Given the description of an element on the screen output the (x, y) to click on. 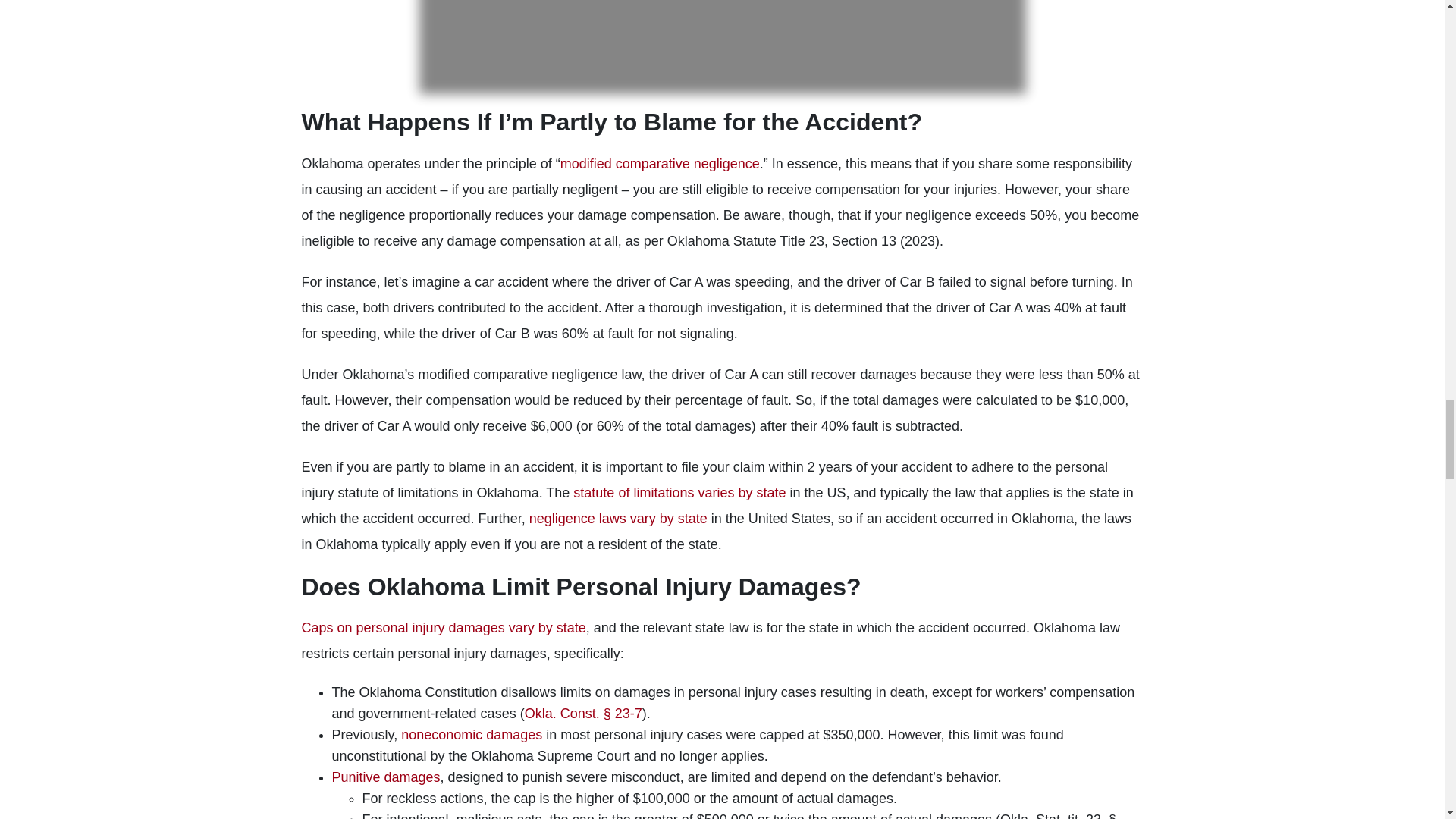
modified comparative negligence (660, 163)
Caps on personal injury damages vary by state (443, 627)
Personal Injury Statute of Limitations in Oklahoma 3 (722, 47)
statute of limitations varies by state (679, 492)
negligence laws vary by state (618, 518)
noneconomic damages (471, 734)
Punitive damages (386, 776)
